Given the description of an element on the screen output the (x, y) to click on. 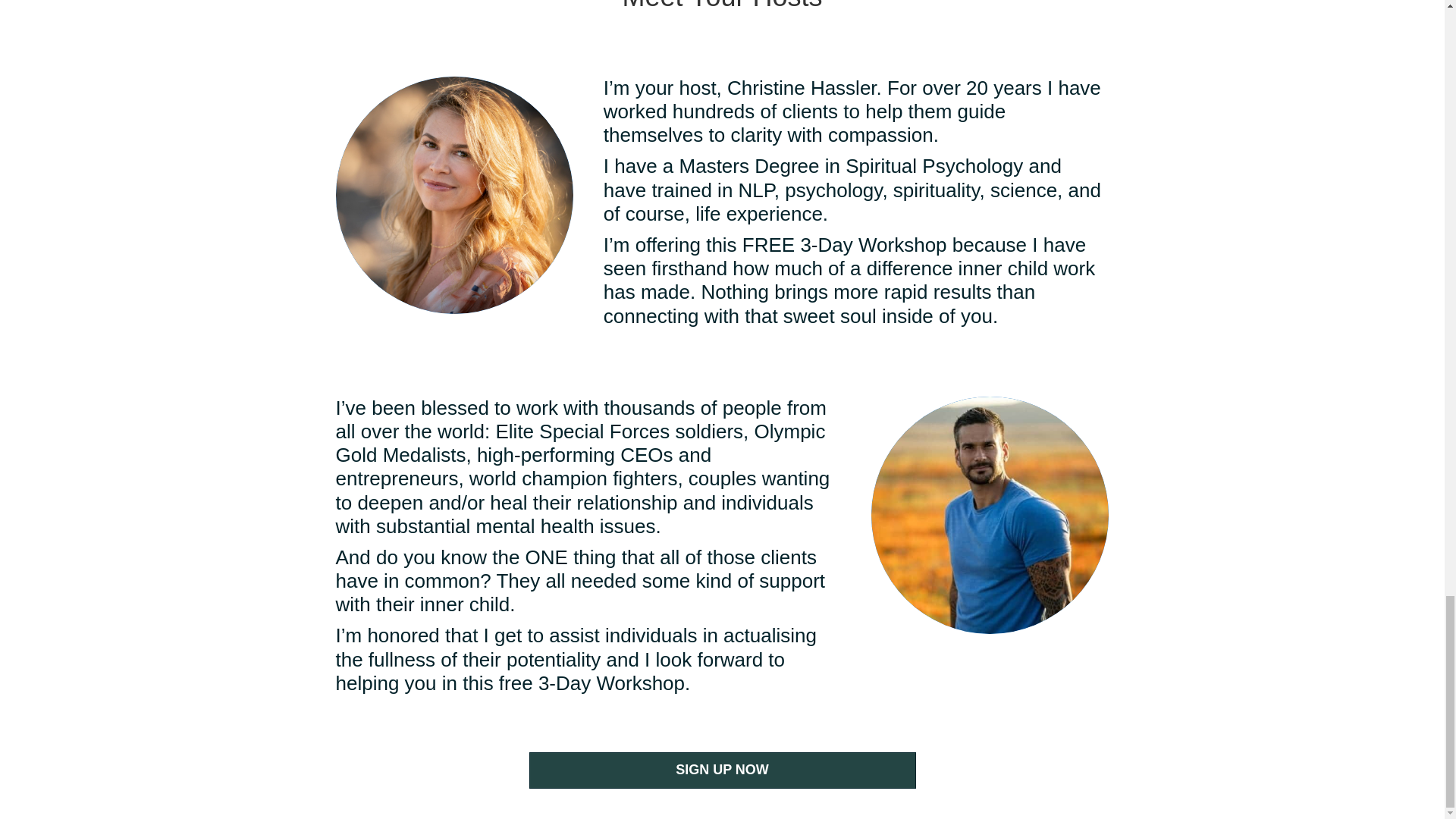
SIGN UP NOW (722, 770)
Stefanos-Sifandos (989, 514)
Christine Headshot (453, 194)
